Given the description of an element on the screen output the (x, y) to click on. 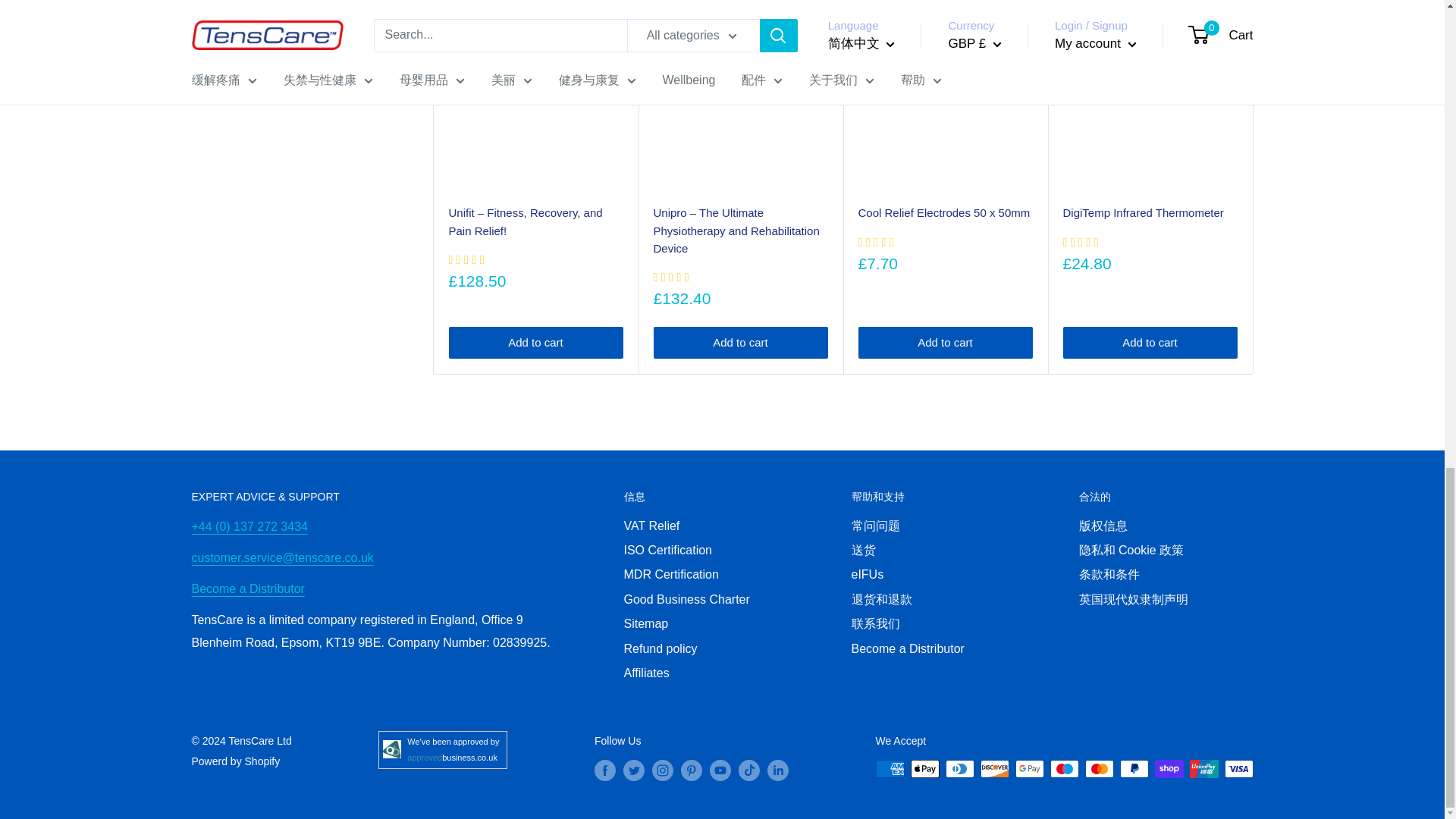
we've been approved by www.approvedbusiness.co.uk (453, 749)
We're an Approved Business (391, 749)
